Given the description of an element on the screen output the (x, y) to click on. 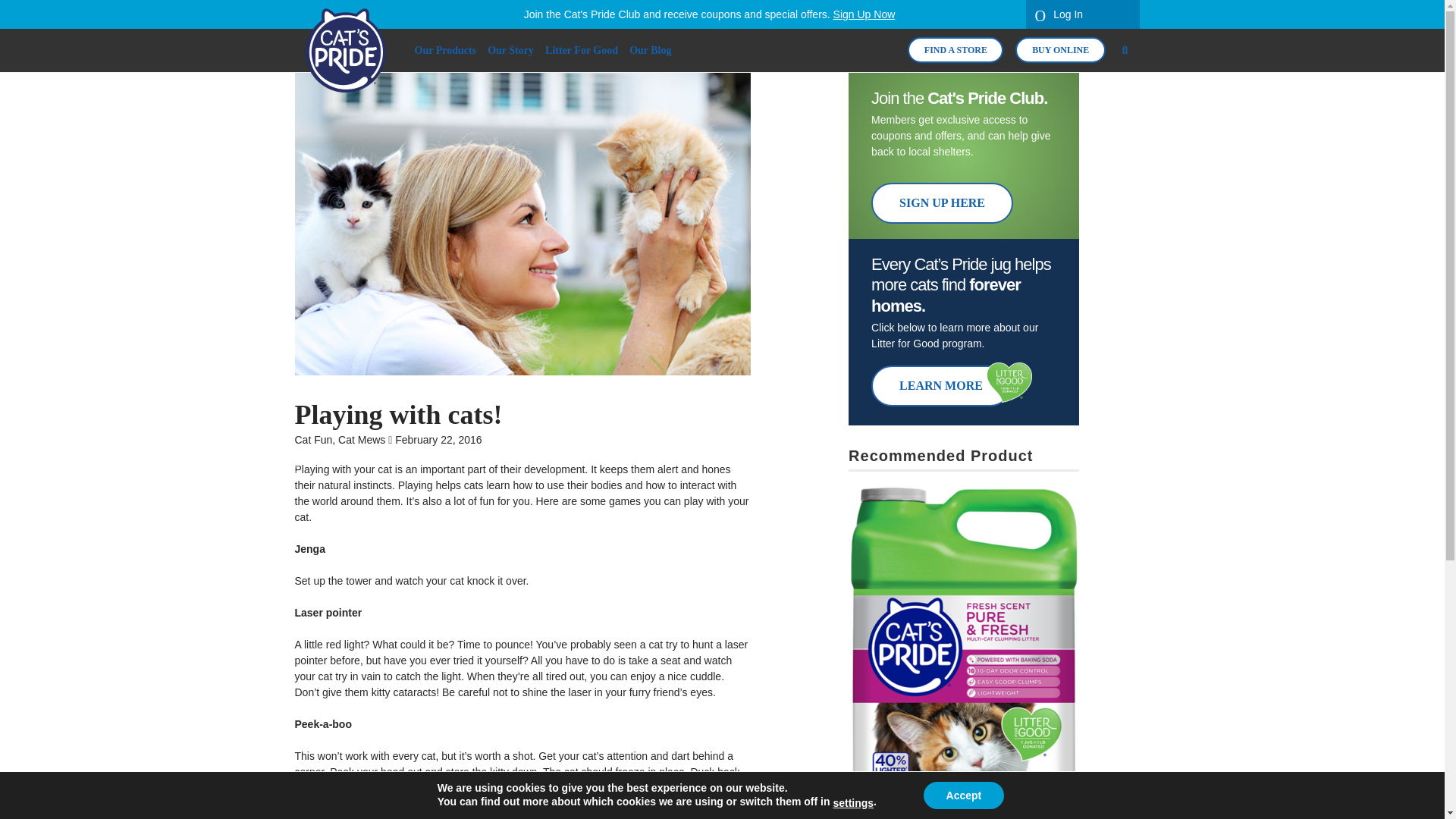
Learn More (940, 385)
FIND A STORE (955, 49)
Log In (1081, 14)
Sign Up Now (863, 14)
Our Products (444, 50)
BUY ONLINE (1059, 49)
Our Blog (648, 50)
Join The Club - SIGN UP HERE (941, 202)
Welcome to Cat's Pride (344, 50)
Our Story (509, 50)
